Given the description of an element on the screen output the (x, y) to click on. 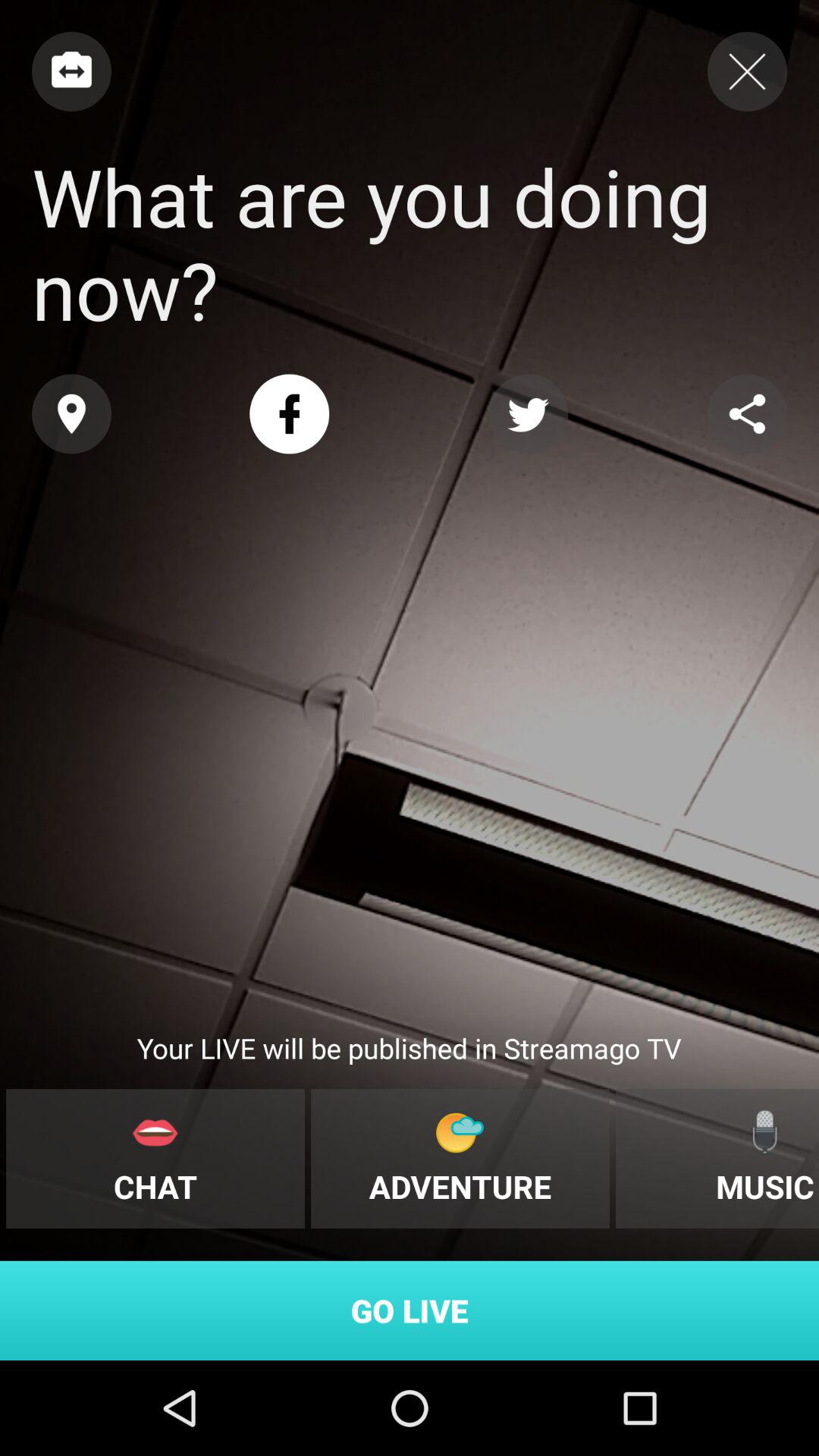
jump to the go live (409, 1310)
